Given the description of an element on the screen output the (x, y) to click on. 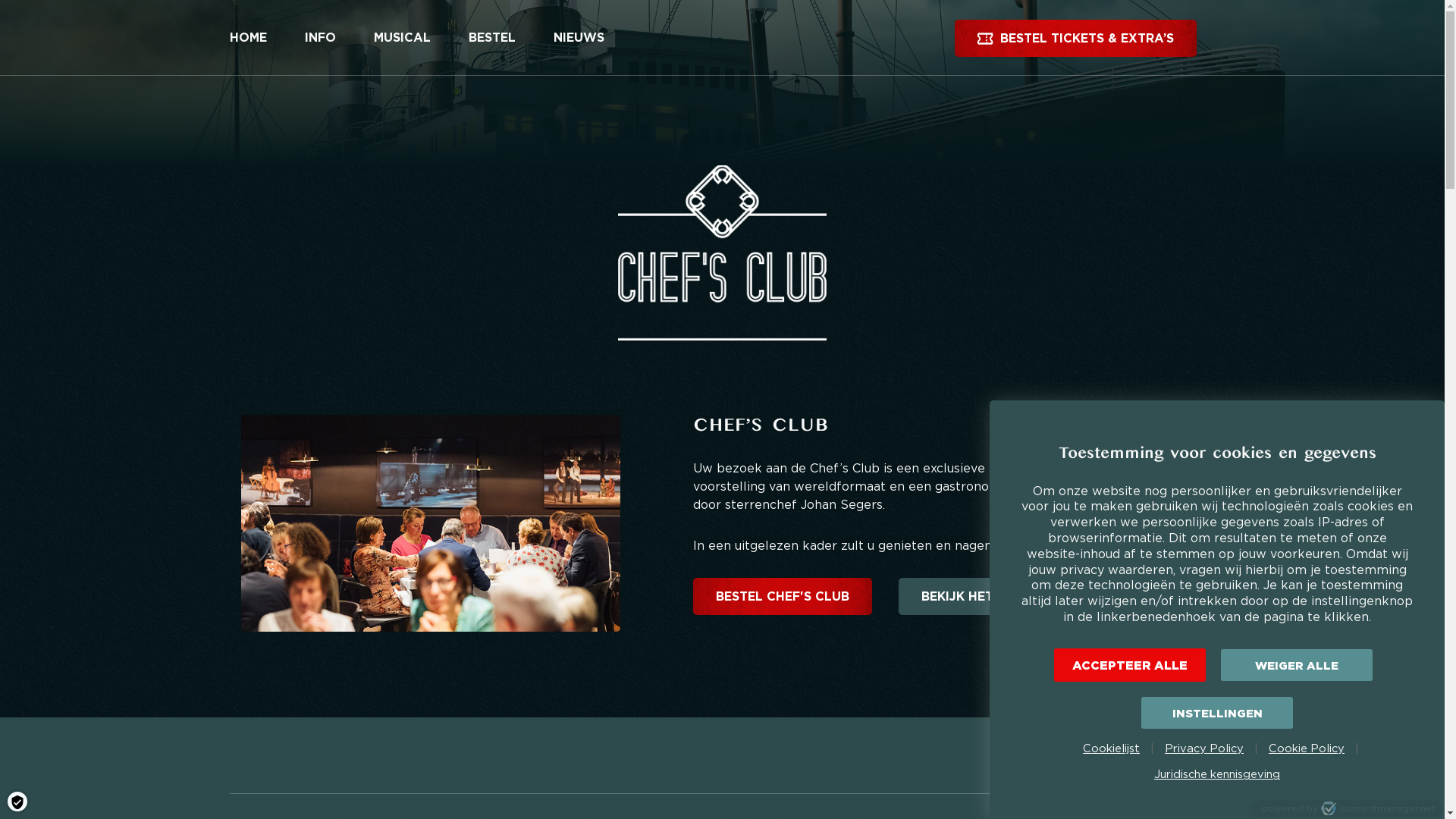
BESTEL Element type: text (490, 37)
MUSICAL Element type: text (401, 37)
NIEUWS Element type: text (577, 37)
BEKIJK HET PROGRAMMA Element type: text (1000, 596)
HOME Element type: text (247, 37)
INFO Element type: text (319, 37)
BESTEL CHEF'S CLUB Element type: text (782, 596)
